Given the description of an element on the screen output the (x, y) to click on. 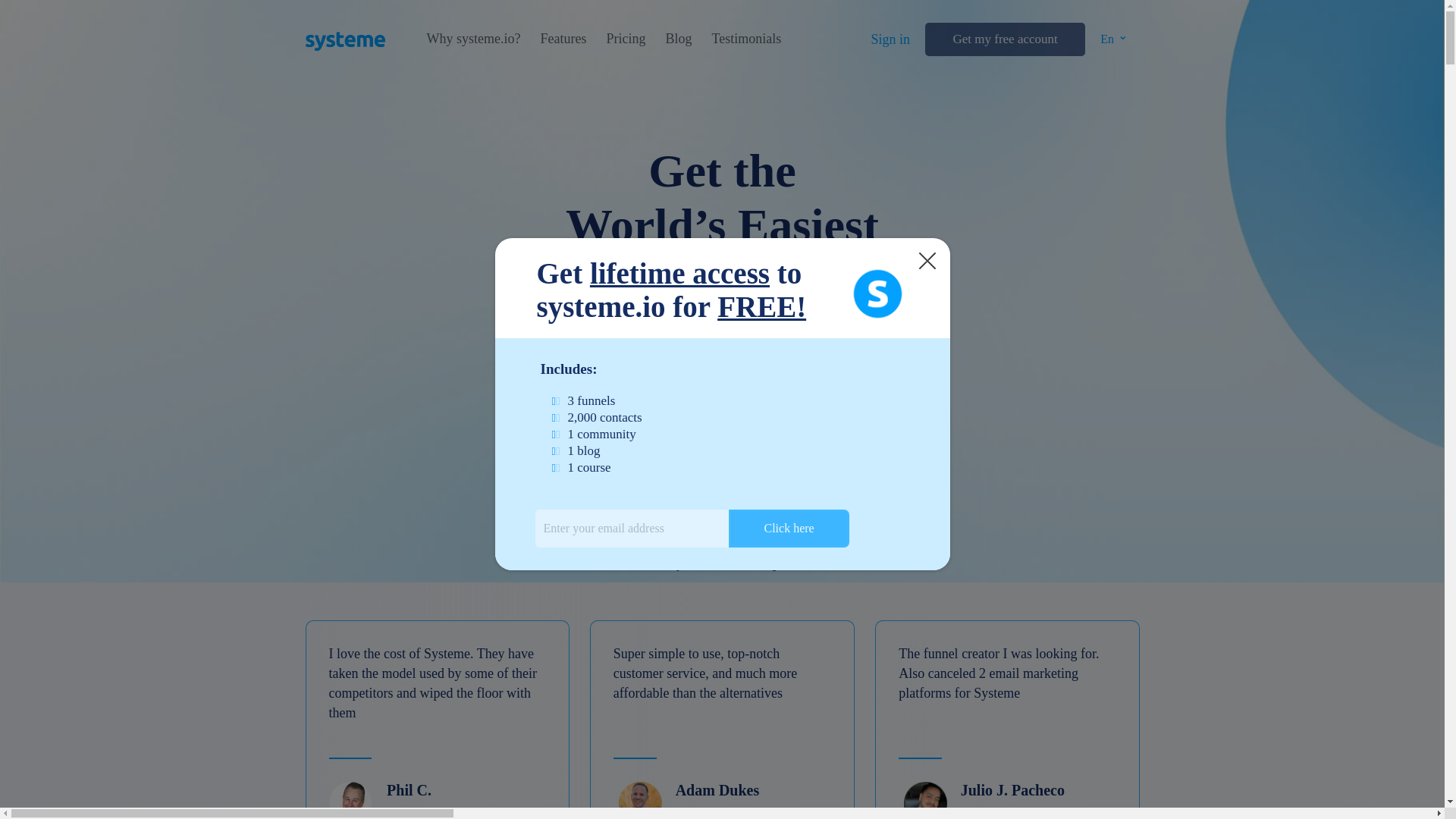
Pricing (625, 38)
Features (563, 38)
Why systeme.io? (472, 38)
Get my free account (1004, 39)
Testimonials (745, 38)
Sign in (890, 39)
Blog (678, 38)
